Given the description of an element on the screen output the (x, y) to click on. 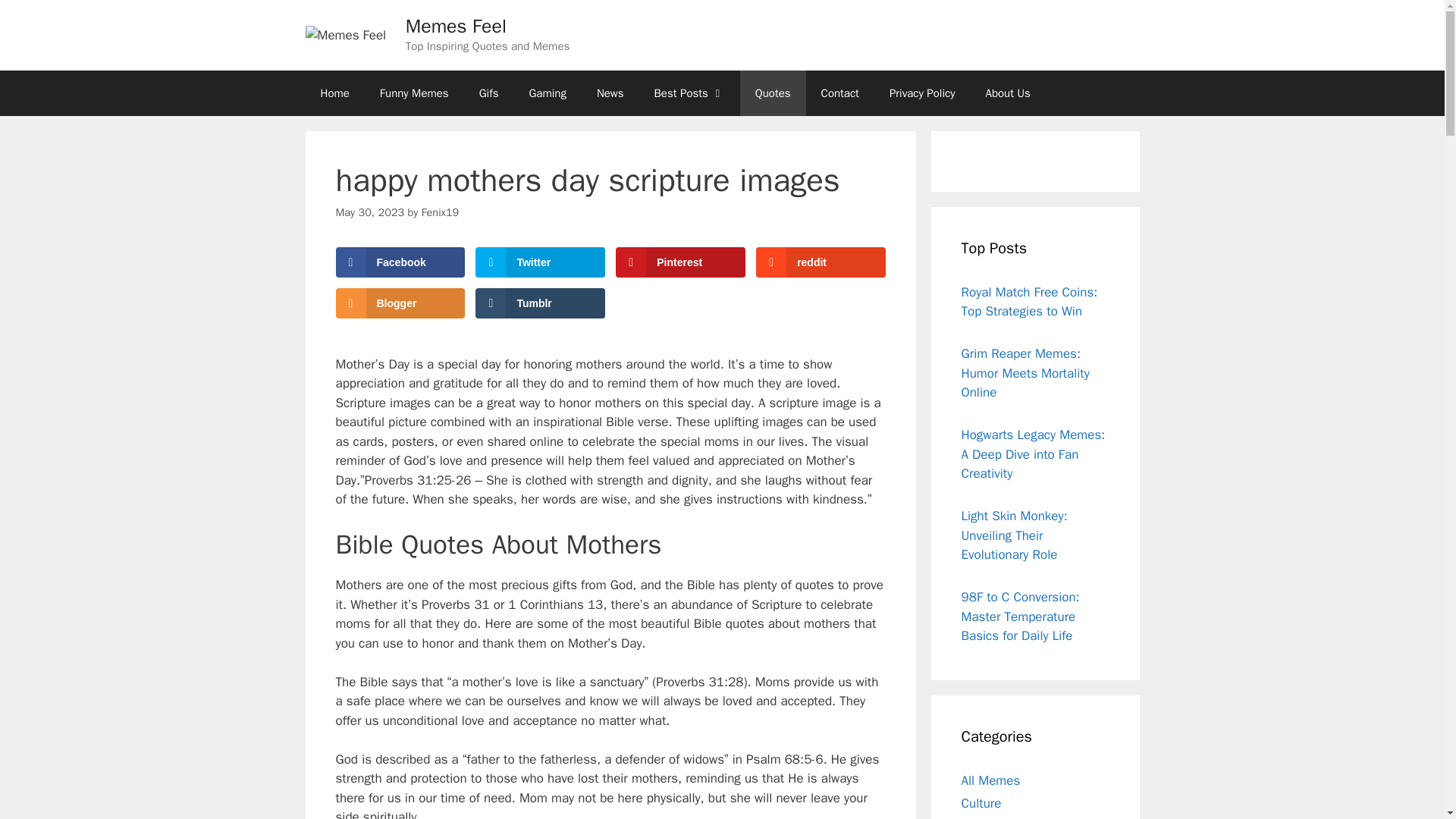
About Us (1008, 92)
Privacy Policy (923, 92)
Gaming (546, 92)
View all posts by Fenix19 (441, 212)
Blogger (399, 303)
Memes Feel (456, 25)
Contact (840, 92)
reddit (820, 262)
Pinterest (679, 262)
Twitter (540, 262)
Quotes (772, 92)
Gifs (488, 92)
Funny Memes (414, 92)
Home (334, 92)
Best Posts (689, 92)
